Given the description of an element on the screen output the (x, y) to click on. 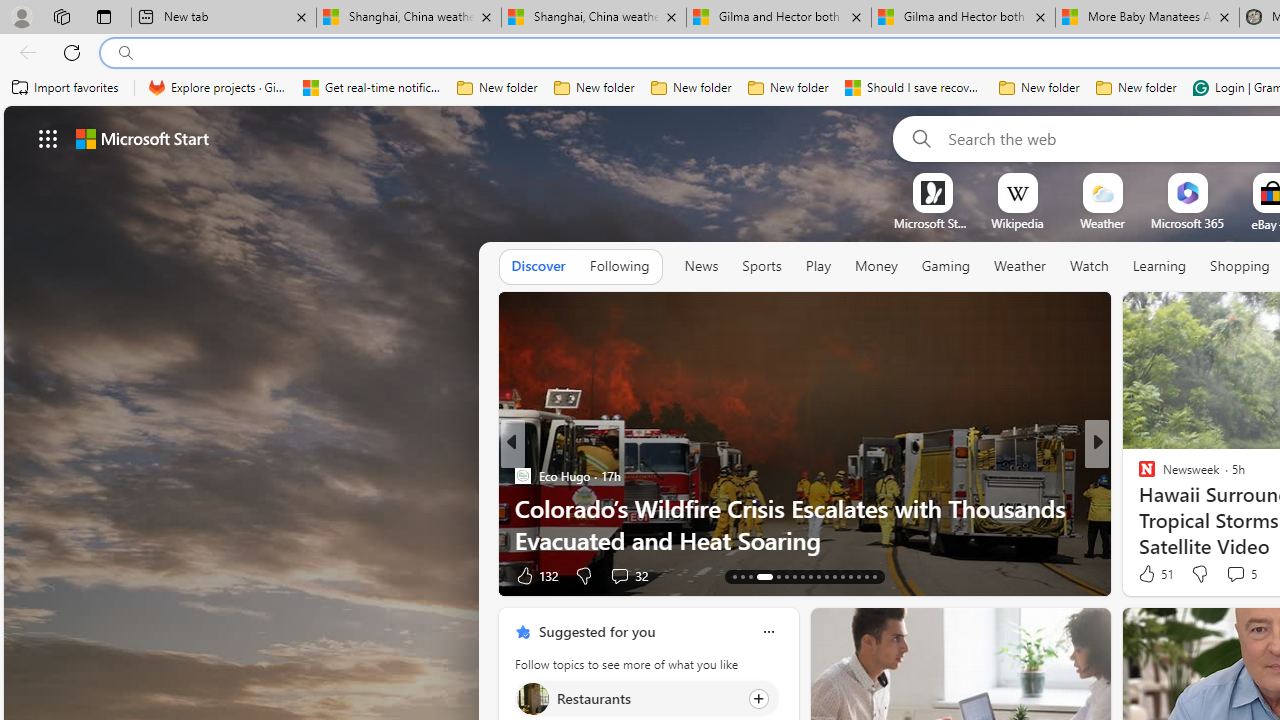
AutomationID: tab-20 (759, 576)
Tampa Free Press (1138, 475)
Class: control (47, 138)
Wikipedia (1017, 223)
AutomationID: tab-19 (750, 576)
Lifehacker (1138, 475)
AutomationID: tab-29 (842, 576)
Newsweek (522, 475)
The Weather Channel (1138, 475)
Restaurants (532, 697)
